Given the description of an element on the screen output the (x, y) to click on. 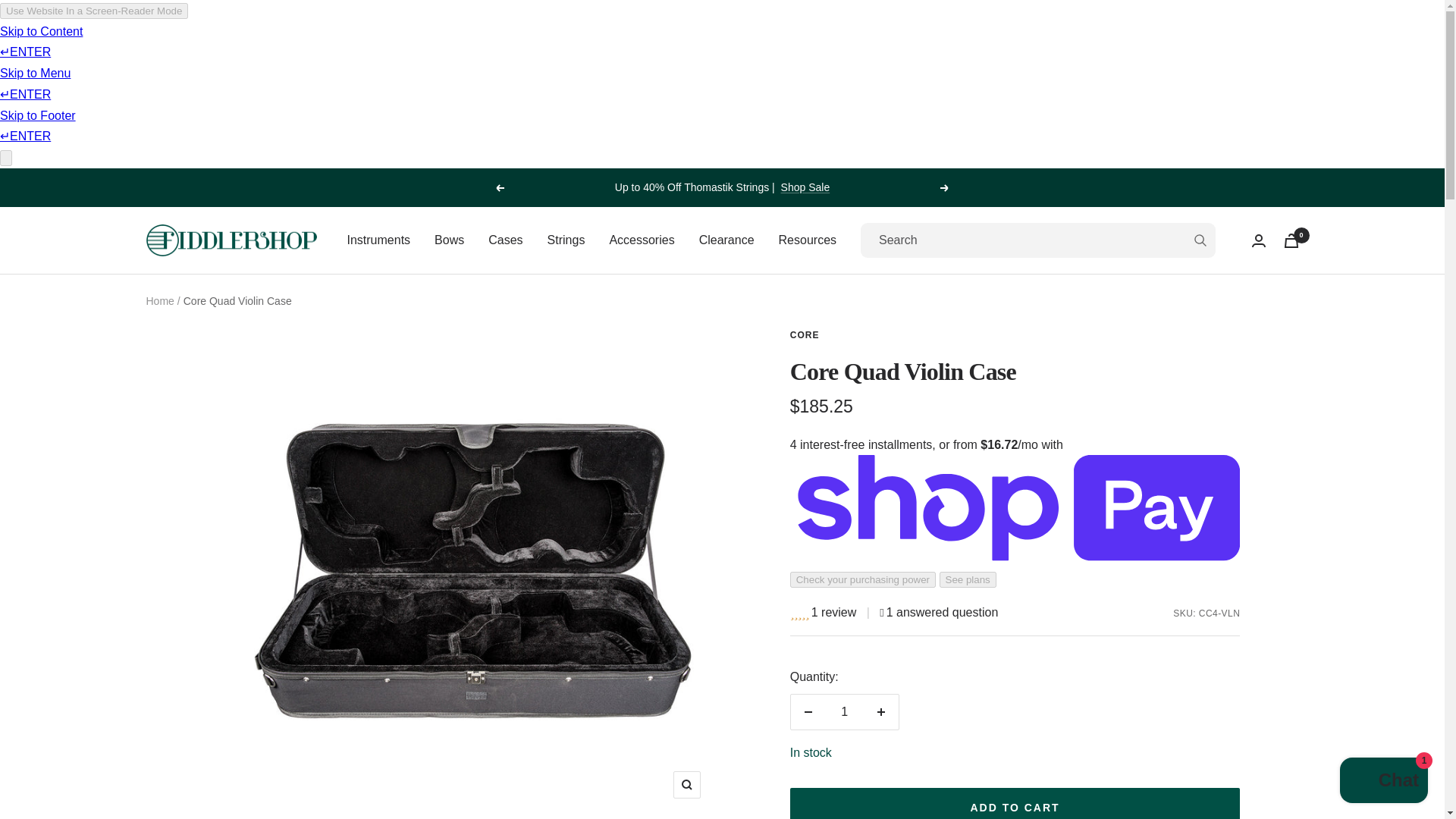
Decrease quantity (807, 711)
Home (159, 300)
Accessories (641, 240)
Fiddlershop (230, 240)
Increase quantity (880, 711)
Instruments (378, 240)
ADD TO CART (1015, 803)
Zoom (686, 784)
CORE (804, 335)
Clearance (726, 240)
Shopify online store chat (1383, 781)
1 (844, 711)
Next (944, 187)
Resources (806, 240)
Shop Sale (804, 186)
